Given the description of an element on the screen output the (x, y) to click on. 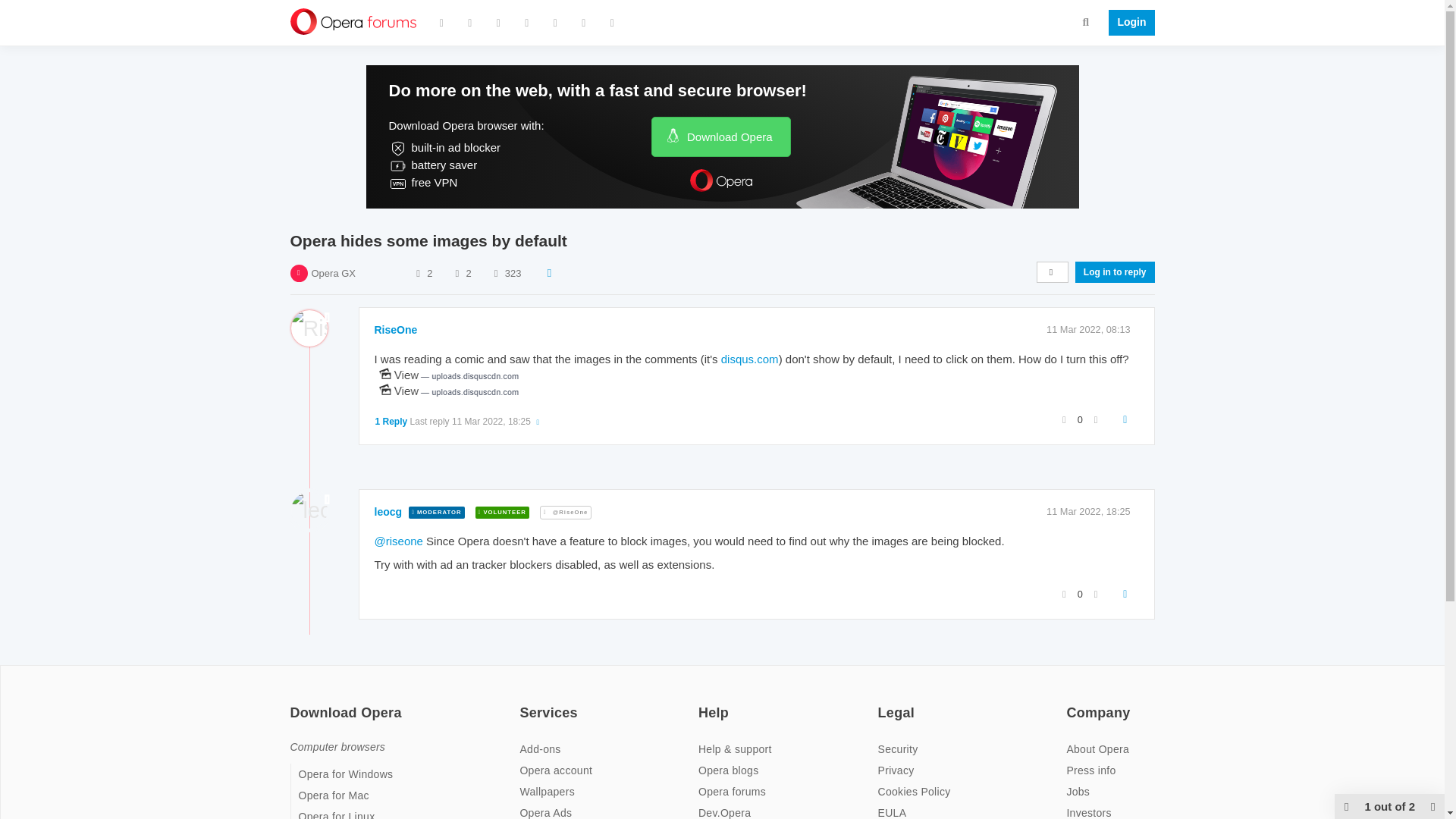
11 Mar 2022, 08:13 (1088, 328)
Opera GX (333, 273)
Log in to reply (1114, 271)
Search (1085, 21)
Download Opera (720, 137)
on (702, 702)
on (523, 702)
on (293, 702)
on (881, 702)
on (1070, 702)
Login (1127, 22)
RiseOne (395, 329)
